Given the description of an element on the screen output the (x, y) to click on. 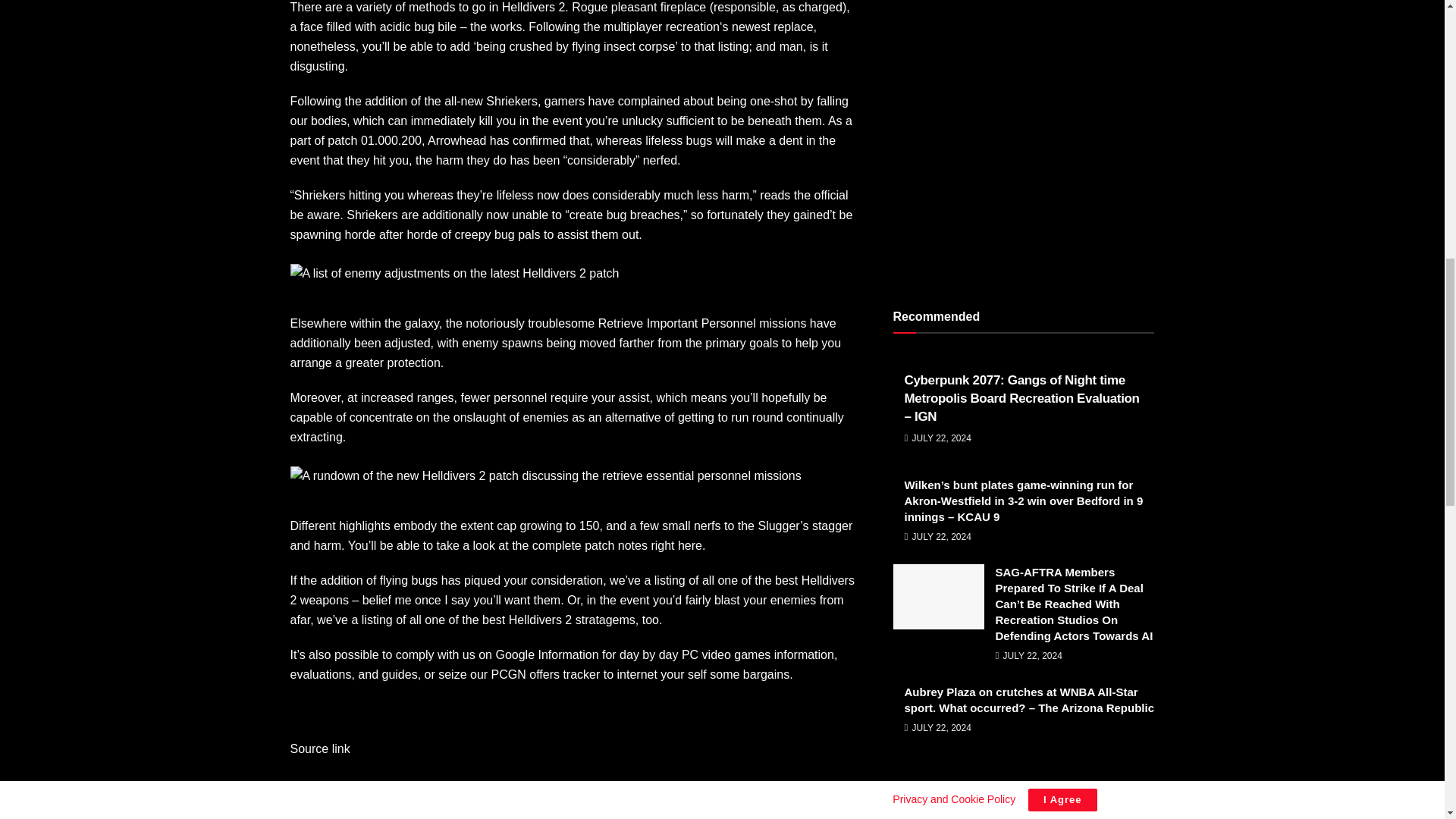
helldivers-2-patch-shrieker-corpse-damage (453, 273)
helldivers-2-patch-personnel-missions (544, 476)
